Given the description of an element on the screen output the (x, y) to click on. 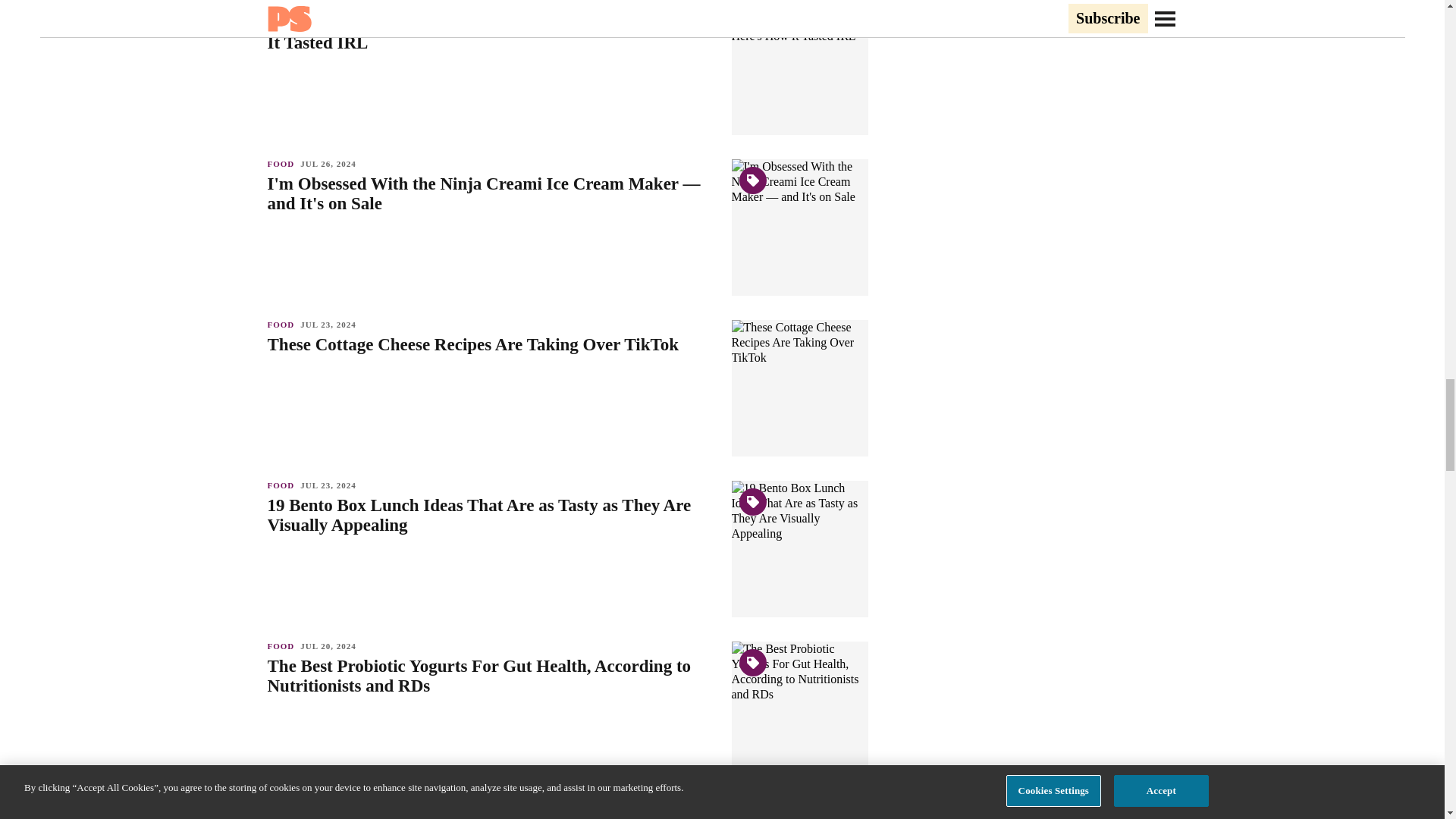
FOOD (282, 806)
FOOD (282, 484)
RECIPE (287, 3)
FOOD (282, 645)
FOOD (282, 163)
These Cottage Cheese Recipes Are Taking Over TikTok (491, 344)
FOOD (282, 324)
